Given the description of an element on the screen output the (x, y) to click on. 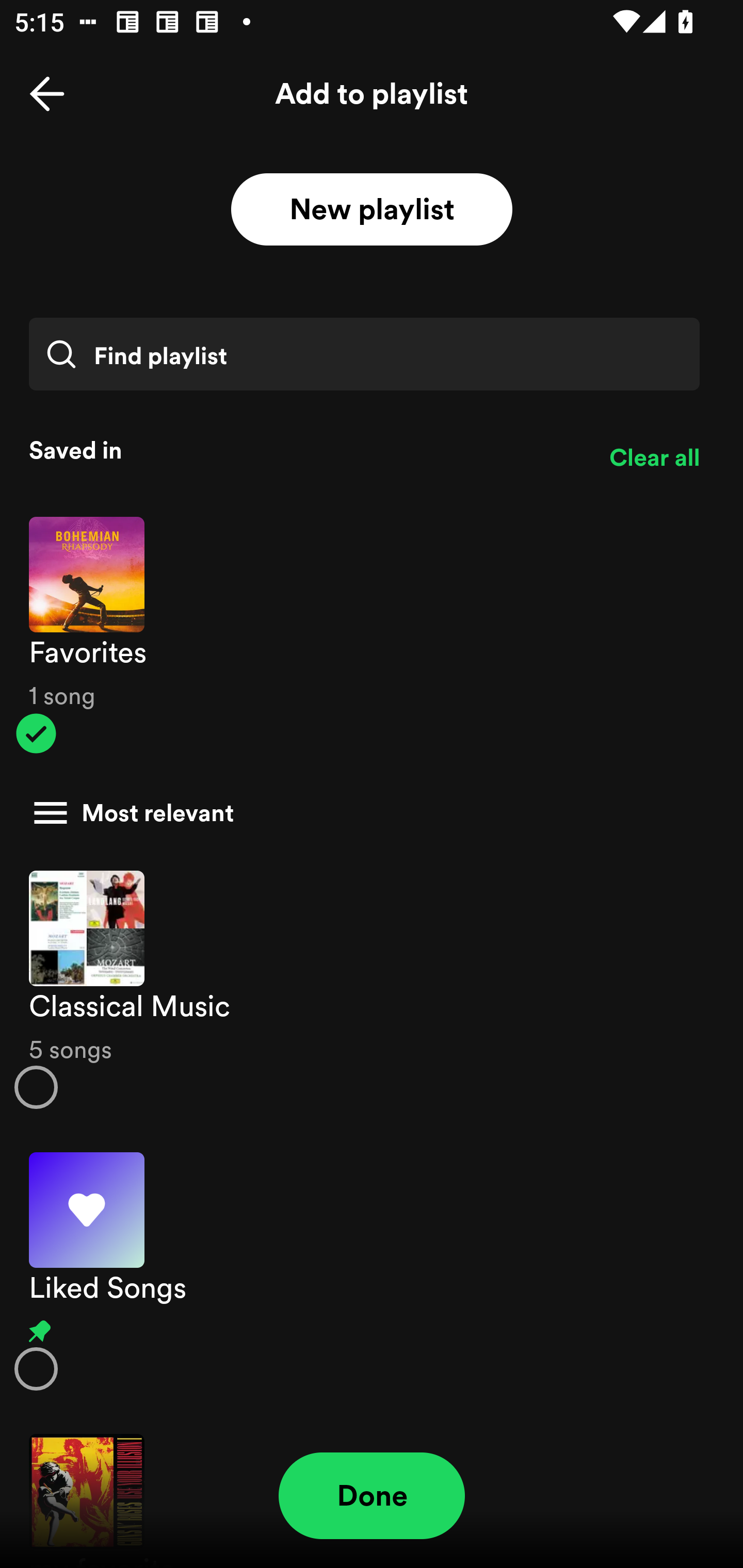
Back (46, 93)
New playlist (371, 210)
Find playlist (363, 354)
Saved in (304, 449)
Clear all (654, 457)
Favorites 1 song (371, 635)
Most relevant (363, 812)
Classical Music 5 songs (371, 989)
Liked Songs Pinned (371, 1271)
my favorite (371, 1490)
Done (371, 1495)
